Given the description of an element on the screen output the (x, y) to click on. 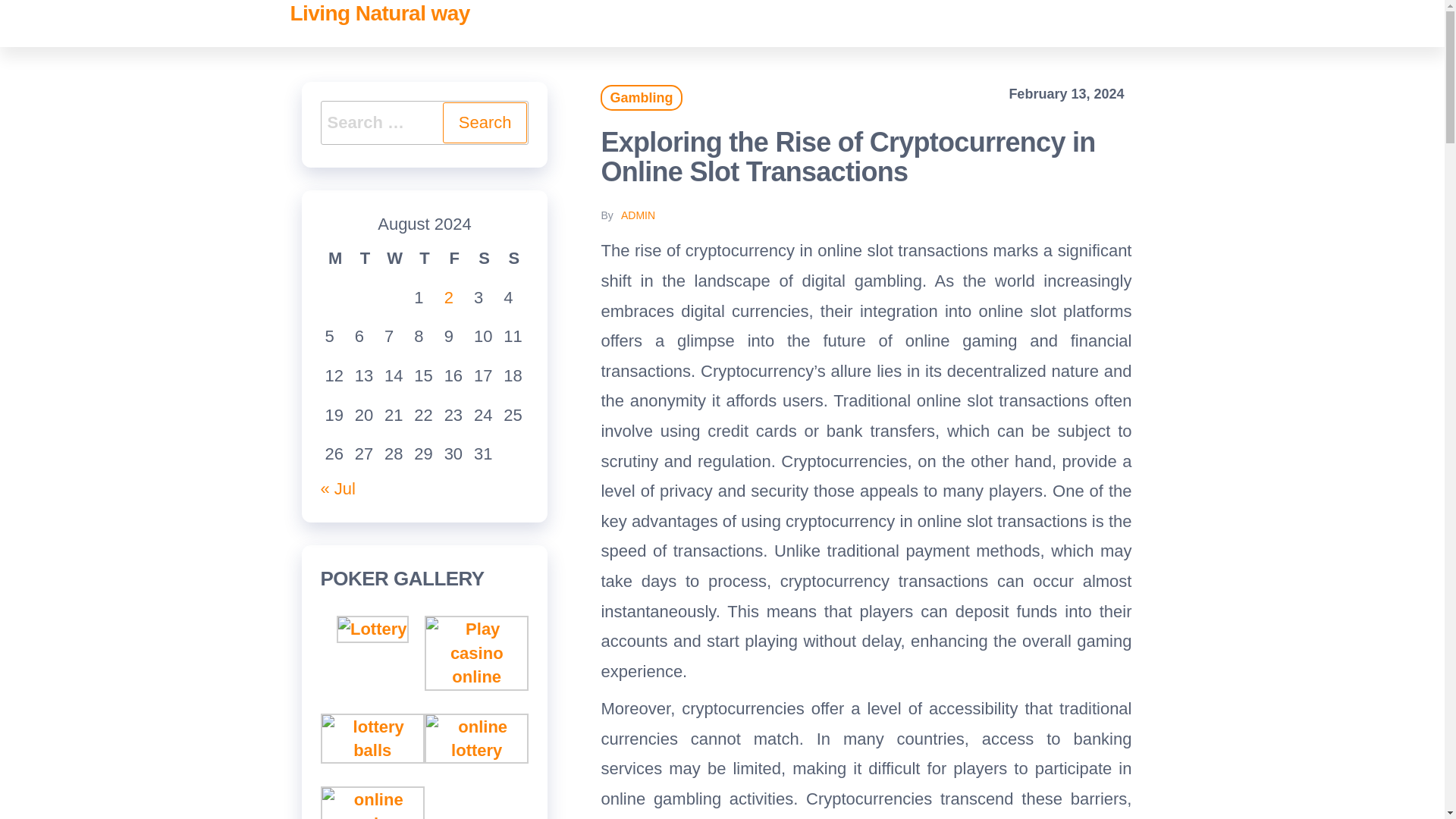
Search (484, 122)
Search (484, 122)
Gambling (640, 97)
Living Natural way (378, 13)
Search (484, 122)
ADMIN (638, 215)
